Given the description of an element on the screen output the (x, y) to click on. 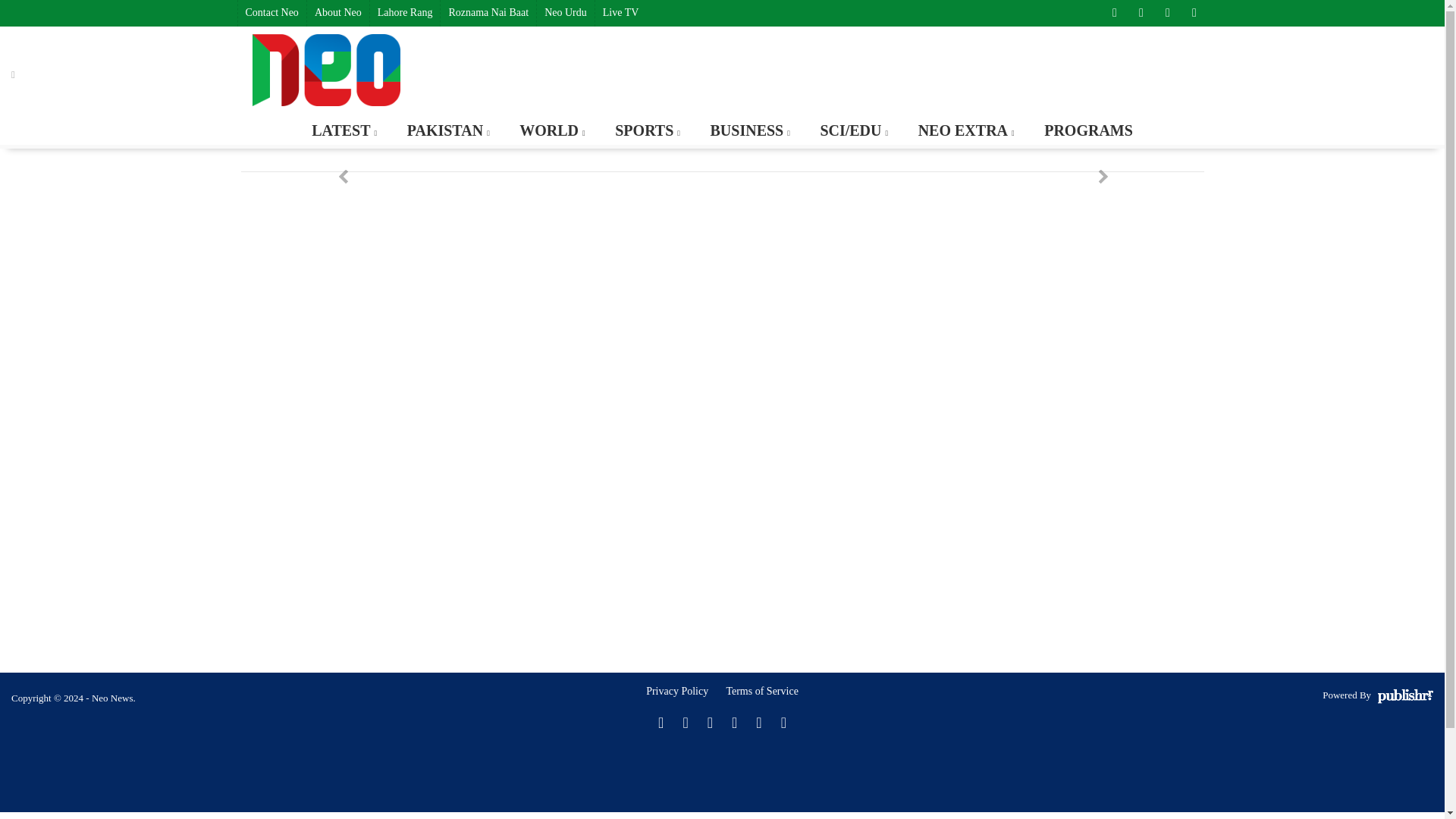
Contact Neo (270, 13)
Roznama Nai Baat (487, 13)
LATEST (342, 130)
PAKISTAN (446, 130)
Skip to content (71, 122)
Lahore Rang (405, 13)
Neo Urdu (564, 13)
Live TV (620, 13)
About Neo (337, 13)
WORLD (549, 130)
